Given the description of an element on the screen output the (x, y) to click on. 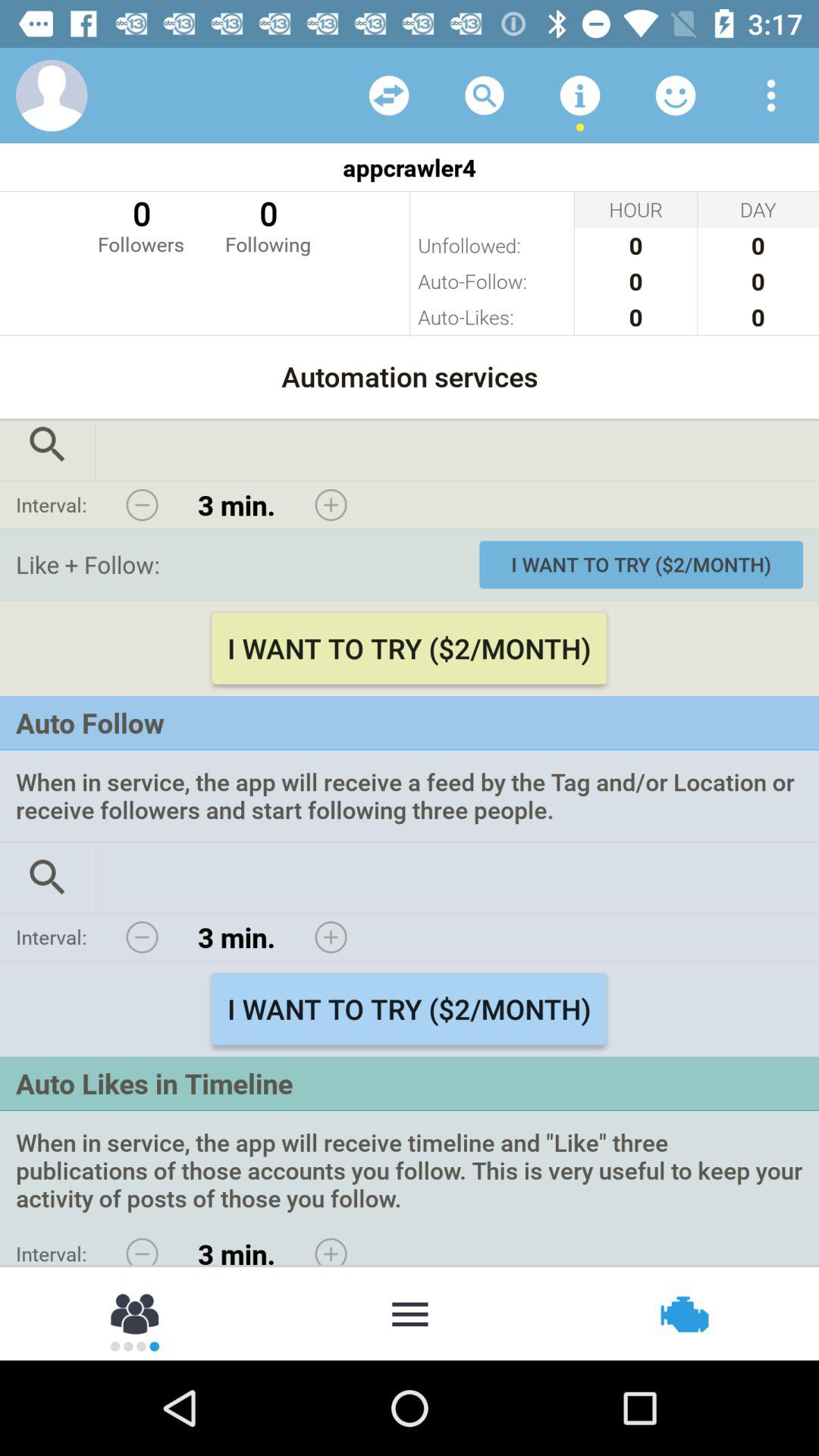
launch 0
following item (268, 224)
